Given the description of an element on the screen output the (x, y) to click on. 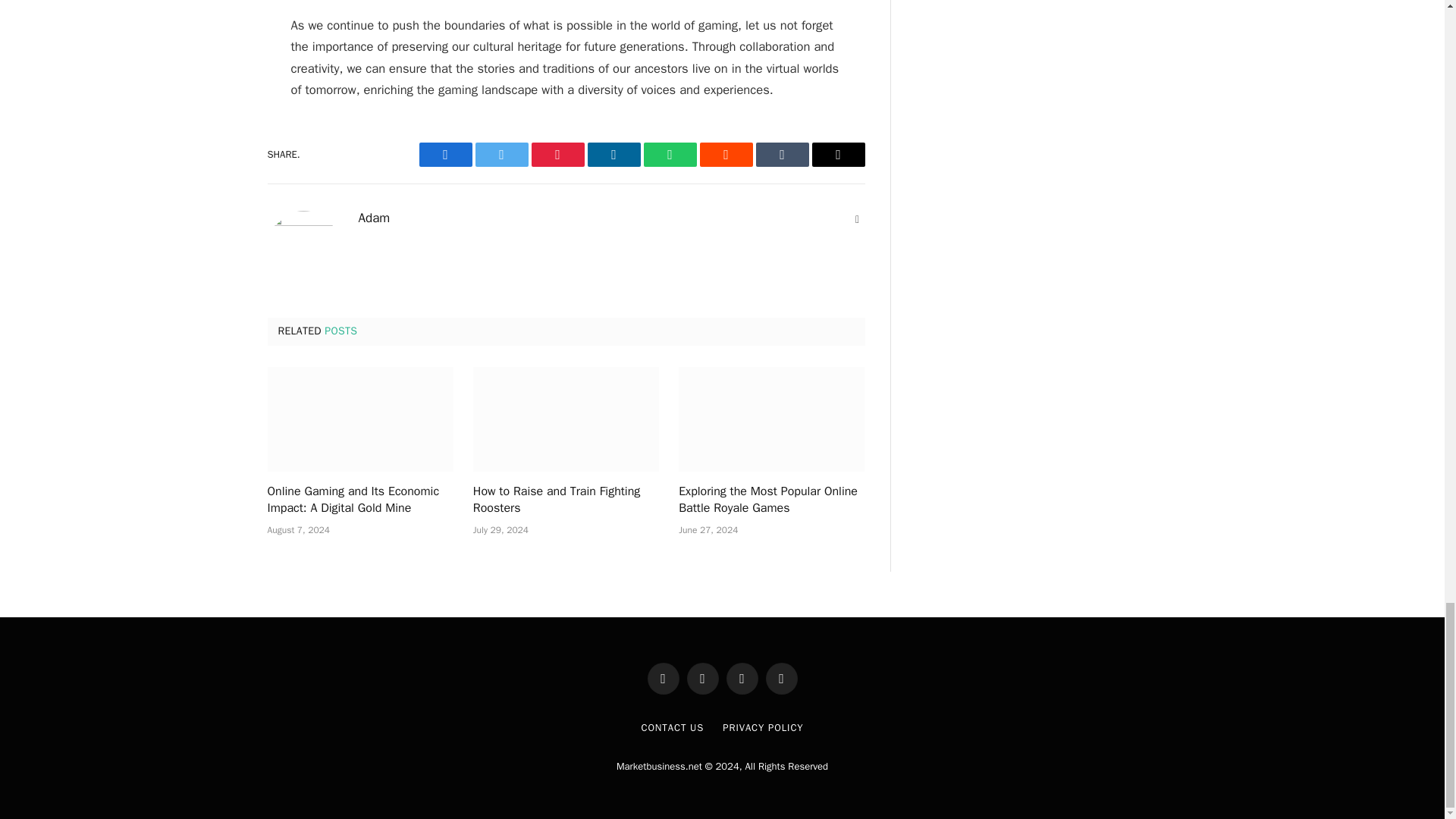
Reddit (725, 154)
Share on LinkedIn (613, 154)
Tumblr (781, 154)
Facebook (445, 154)
WhatsApp (669, 154)
Share on Pinterest (557, 154)
Twitter (500, 154)
Pinterest (557, 154)
LinkedIn (613, 154)
Share on Facebook (445, 154)
